Given the description of an element on the screen output the (x, y) to click on. 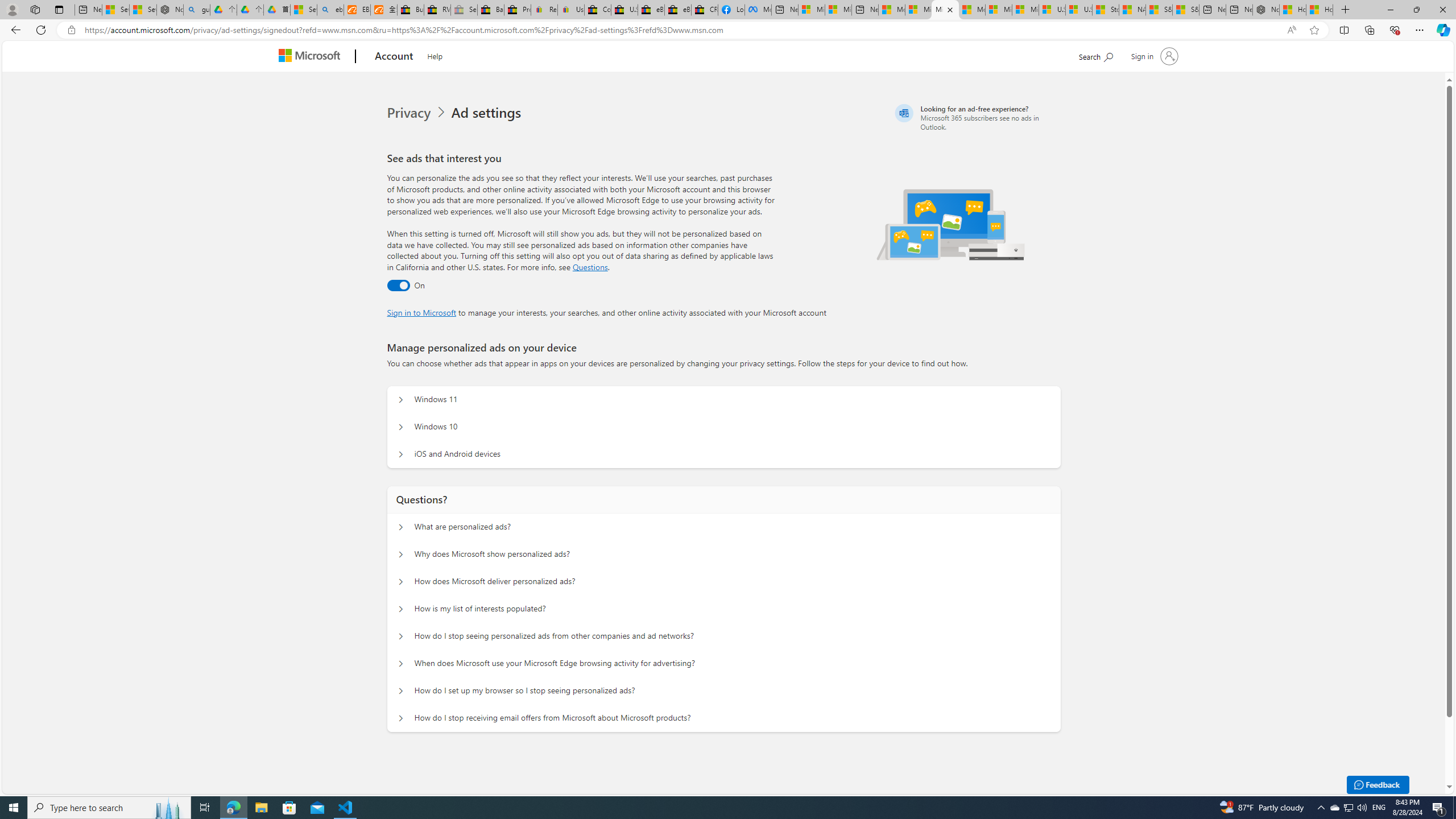
Register: Create a personal eBay account (543, 9)
Log into Facebook (731, 9)
Help (434, 54)
RV, Trailer & Camper Steps & Ladders for sale | eBay (437, 9)
Ad settings (488, 112)
Sign in to your account (1153, 55)
S&P 500, Nasdaq end lower, weighed by Nvidia dip | Watch (1185, 9)
